Given the description of an element on the screen output the (x, y) to click on. 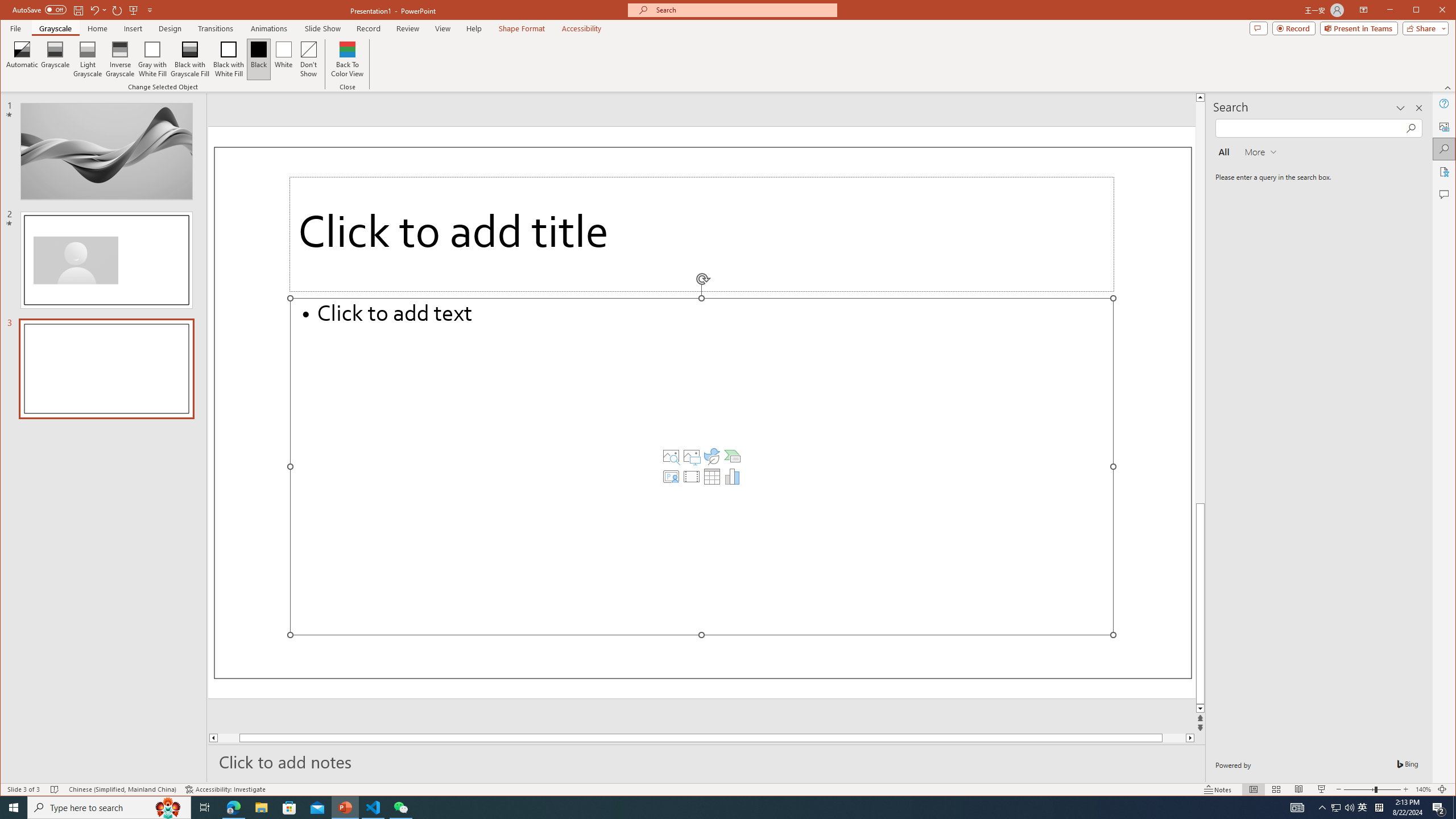
Black (258, 59)
Content Placeholder (701, 466)
Insert Cameo (670, 476)
Grayscale (55, 59)
Running applications (707, 807)
Insert Table (711, 476)
Insert Video (691, 476)
